Given the description of an element on the screen output the (x, y) to click on. 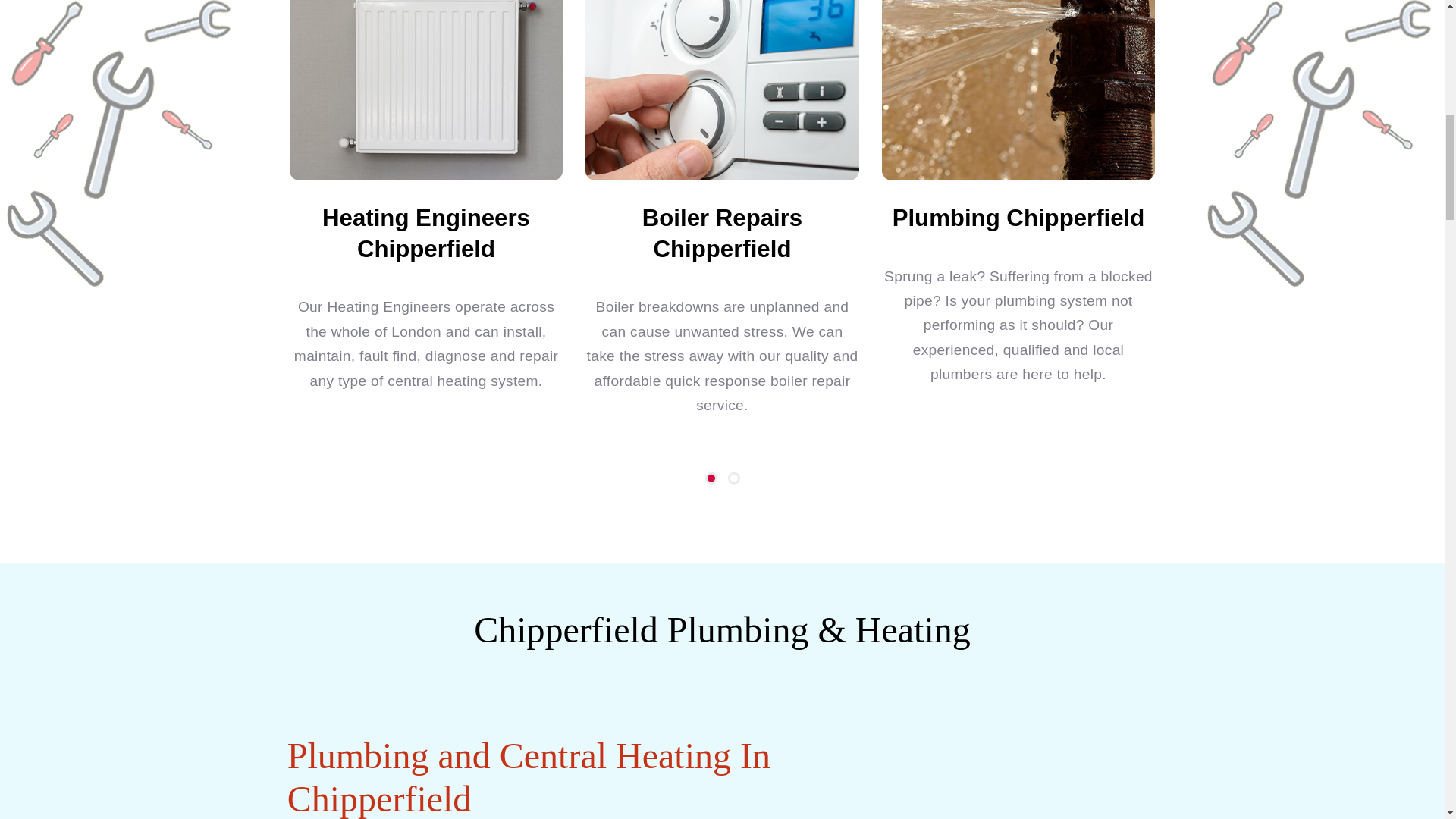
london-plumbers (1018, 90)
central-heating-repairs-london (425, 90)
boiler-repair-install-london (722, 90)
